Given the description of an element on the screen output the (x, y) to click on. 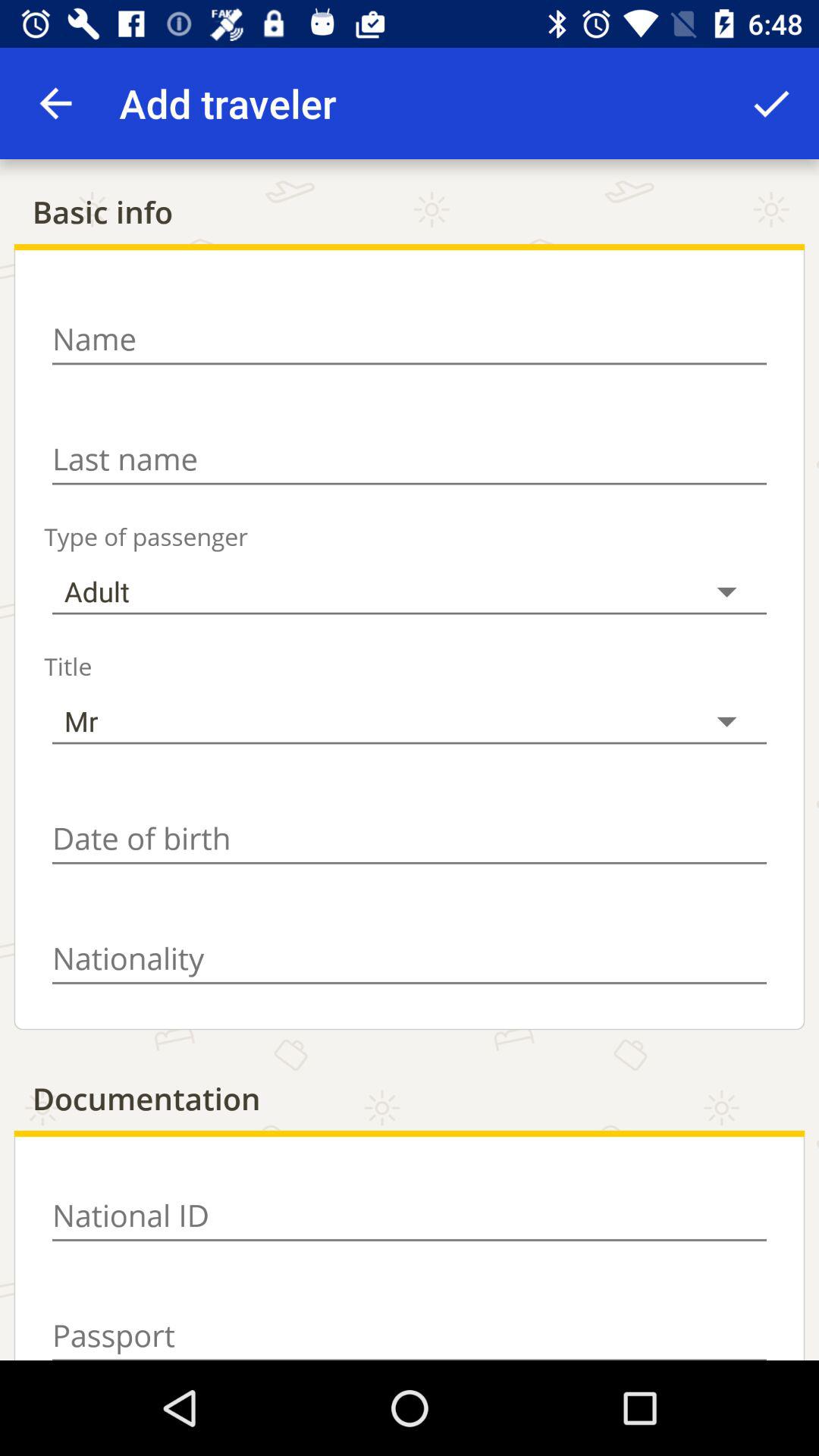
select item to the left of the add traveler (55, 103)
